Given the description of an element on the screen output the (x, y) to click on. 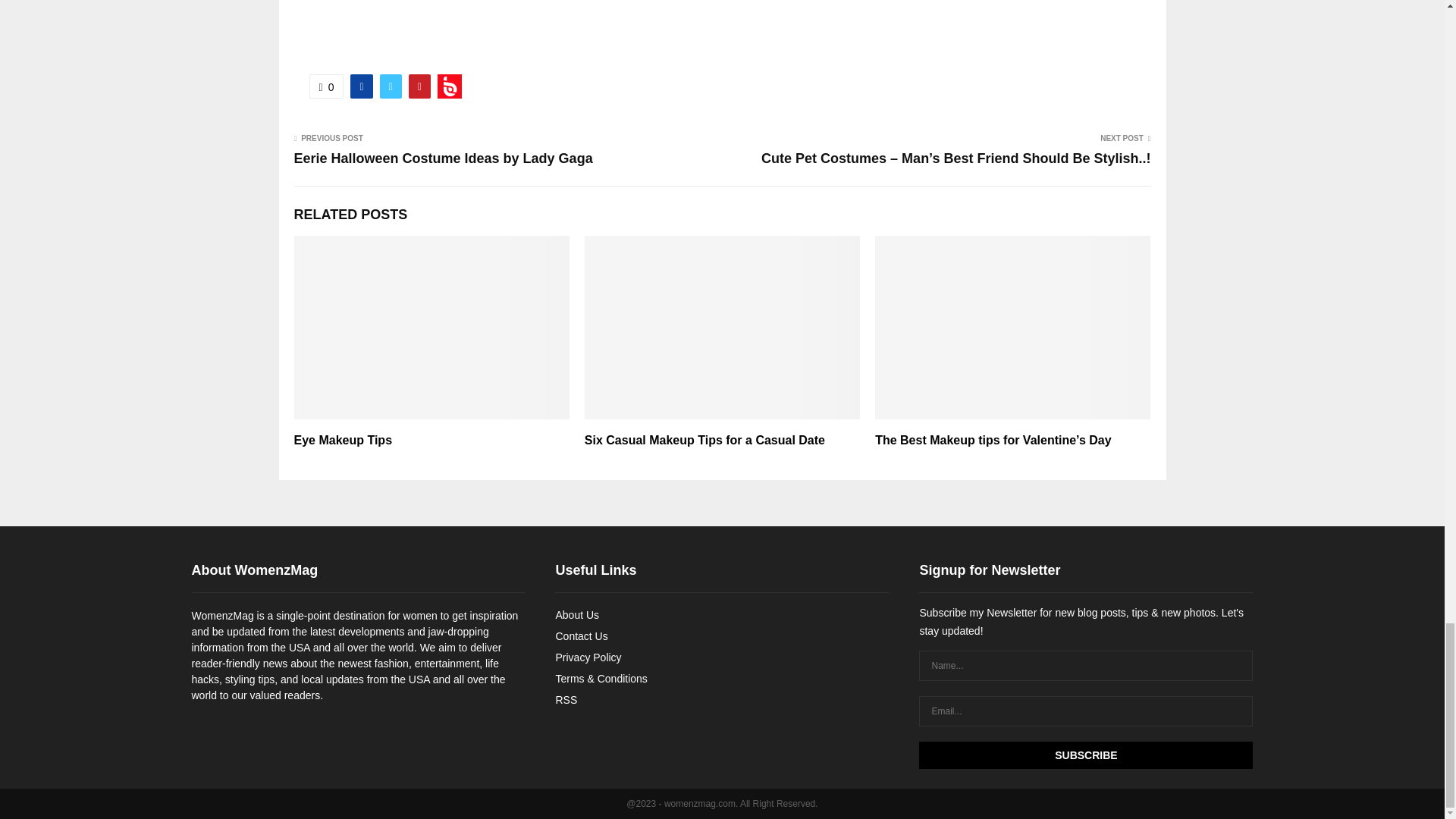
0 (325, 86)
Subscribe (1085, 755)
Eerie Halloween Costume Ideas by Lady Gaga (443, 158)
Like (325, 86)
Eye Makeup Tips (343, 440)
